Given the description of an element on the screen output the (x, y) to click on. 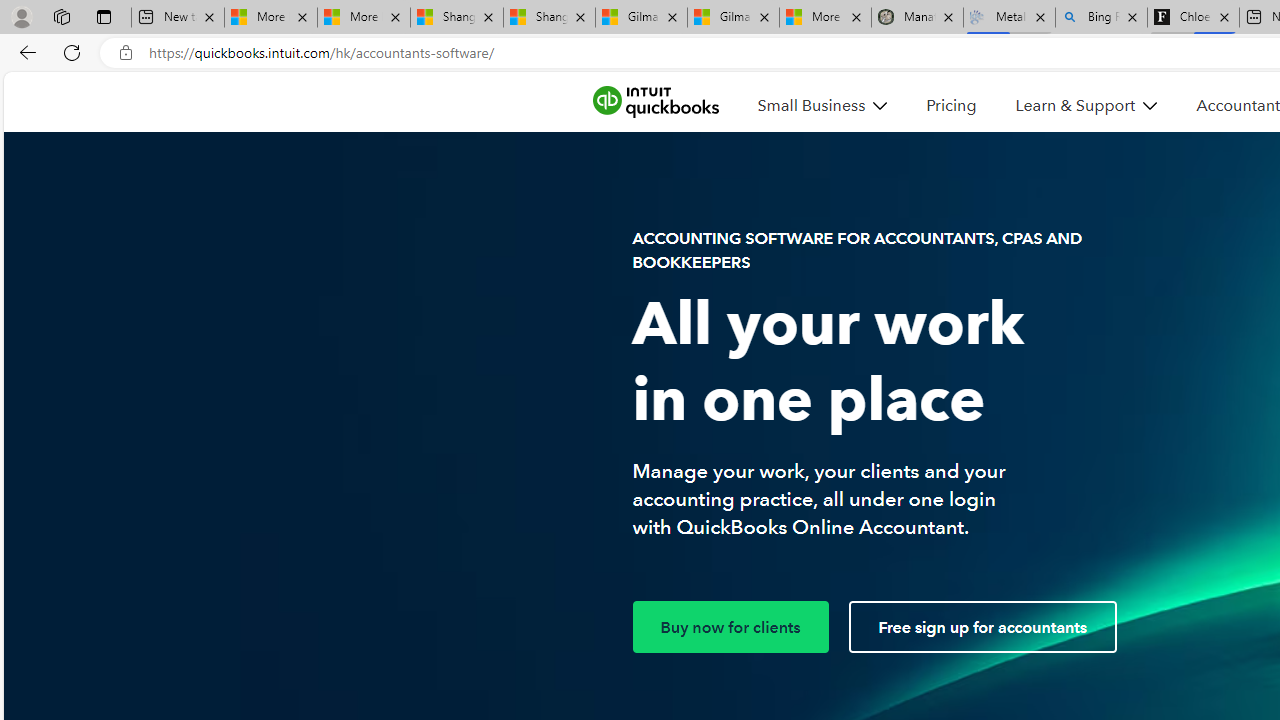
Manatee Mortality Statistics | FWC (916, 17)
Learn & Support (1075, 105)
Free sign up for accountants (982, 627)
Pricing (950, 105)
Small Business (822, 105)
Learn & Support (1086, 105)
Bing Real Estate - Home sales and rental listings (1101, 17)
Small Business (811, 105)
Pricing (950, 105)
Class: MenuItem_dDown__f585abf6 MenuItem_white__f585abf6 (1150, 106)
